Given the description of an element on the screen output the (x, y) to click on. 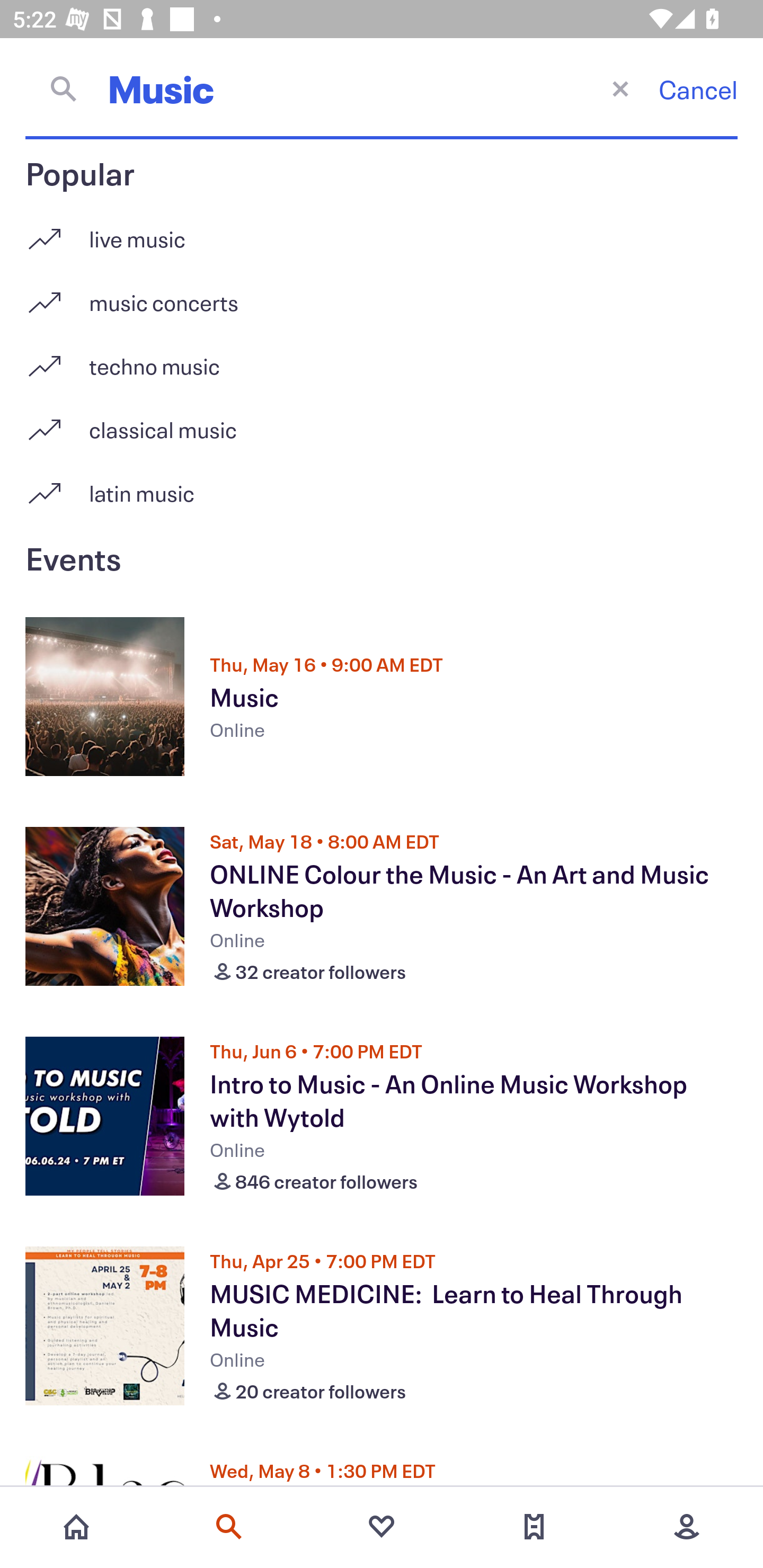
Music Close current screen Cancel (381, 88)
Close current screen (620, 88)
Cancel (697, 89)
live music (381, 231)
music concerts (381, 295)
techno music (381, 358)
classical music (381, 422)
latin music (381, 492)
Home (76, 1526)
Search events (228, 1526)
Favorites (381, 1526)
Tickets (533, 1526)
More (686, 1526)
